Given the description of an element on the screen output the (x, y) to click on. 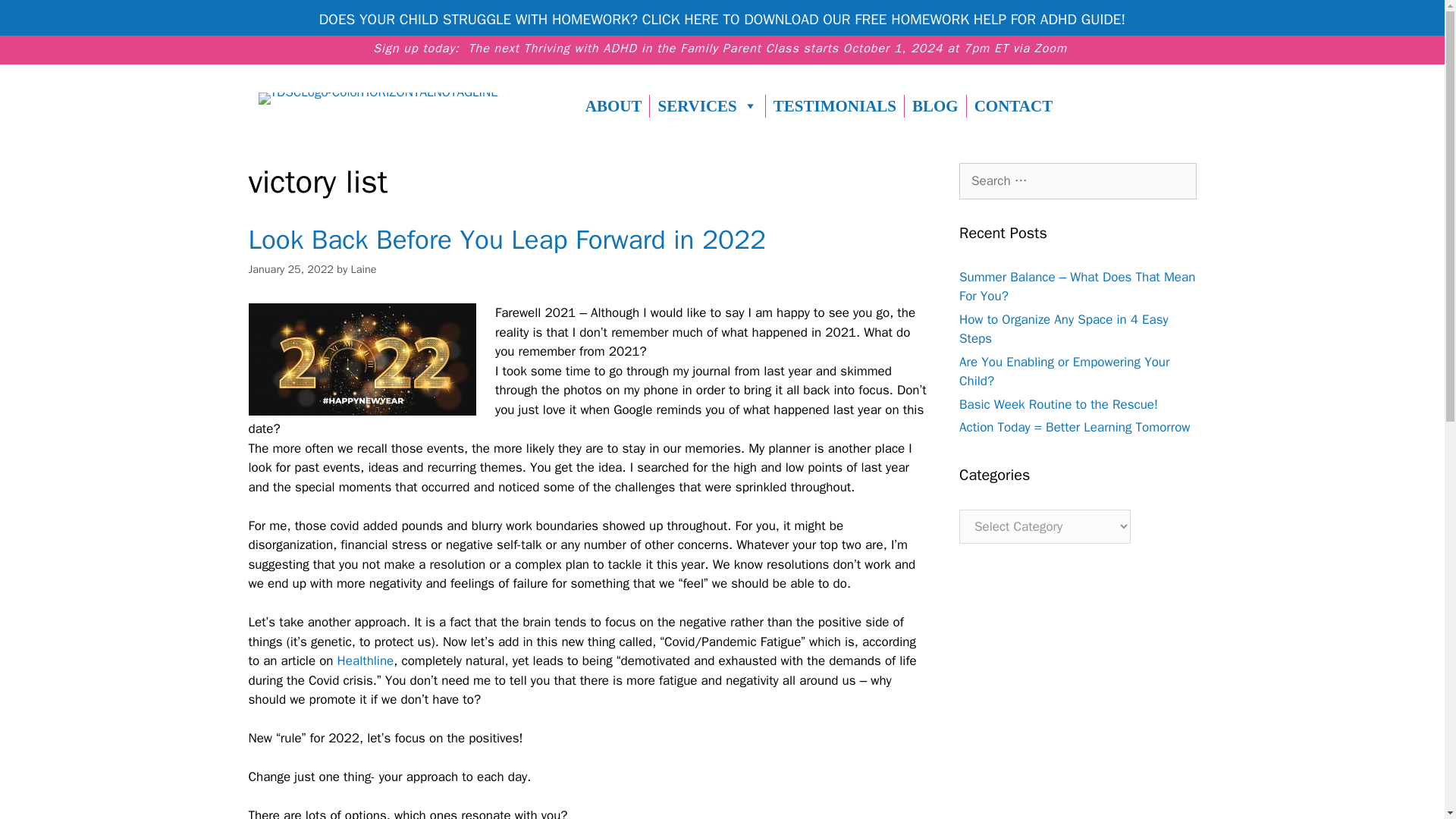
ABOUT (613, 106)
Search for: (1077, 180)
Healthline (365, 660)
CONTACT (1012, 106)
BLOG (935, 106)
SERVICES (706, 106)
View all posts by Laine (363, 269)
Look Back Before You Leap Forward in 2022 (506, 239)
TESTIMONIALS (834, 106)
TDSCLogo-ColorHORIZONTALNOTAGLINE (378, 98)
